Given the description of an element on the screen output the (x, y) to click on. 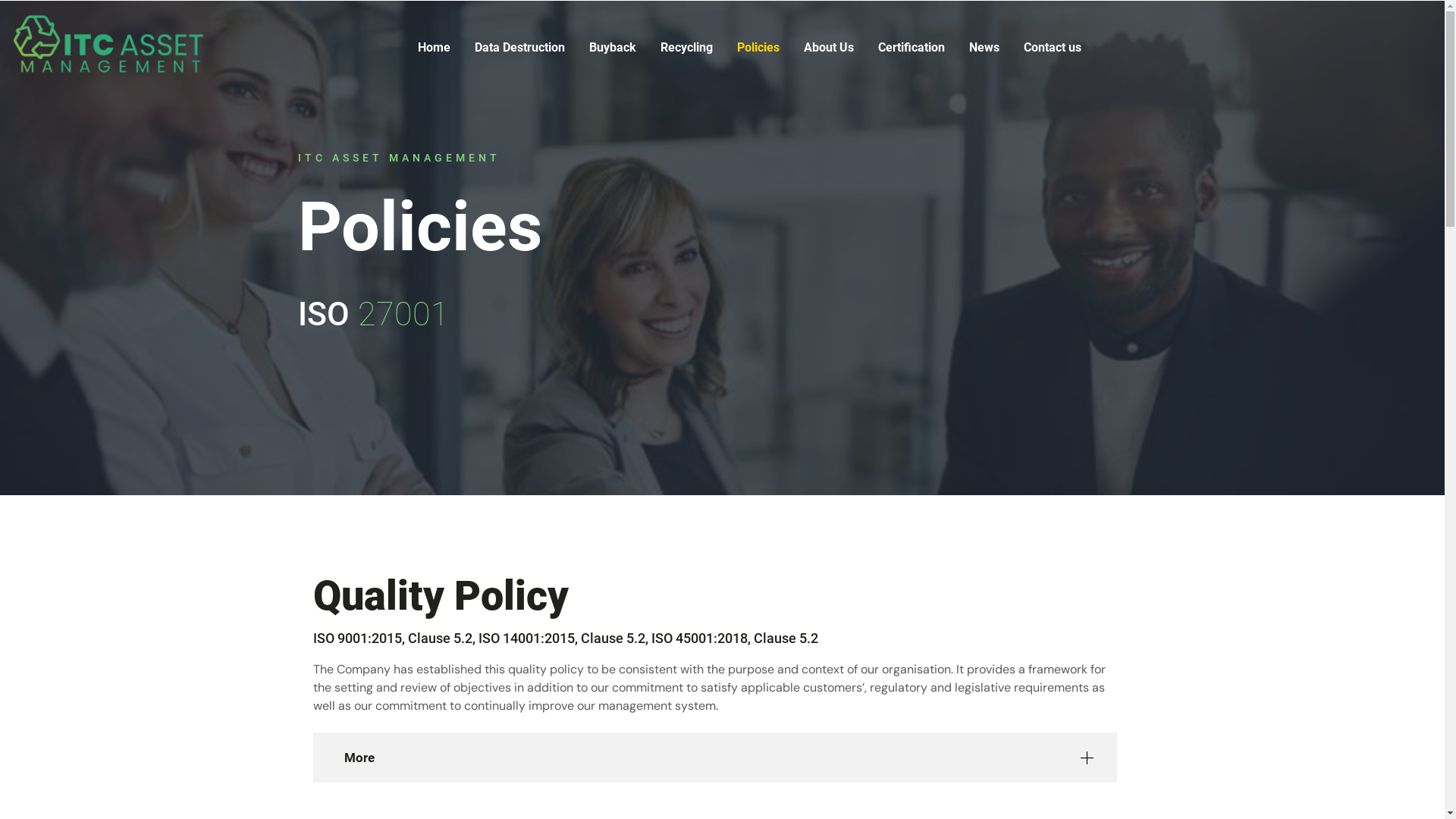
Buyback Element type: text (612, 47)
News Element type: text (984, 47)
Data Destruction Element type: text (519, 47)
About Us Element type: text (828, 47)
Contact us Element type: text (1052, 47)
Certification Element type: text (911, 47)
More Element type: text (714, 757)
Policies Element type: text (757, 47)
Recycling Element type: text (686, 47)
Home Element type: text (433, 47)
